Given the description of an element on the screen output the (x, y) to click on. 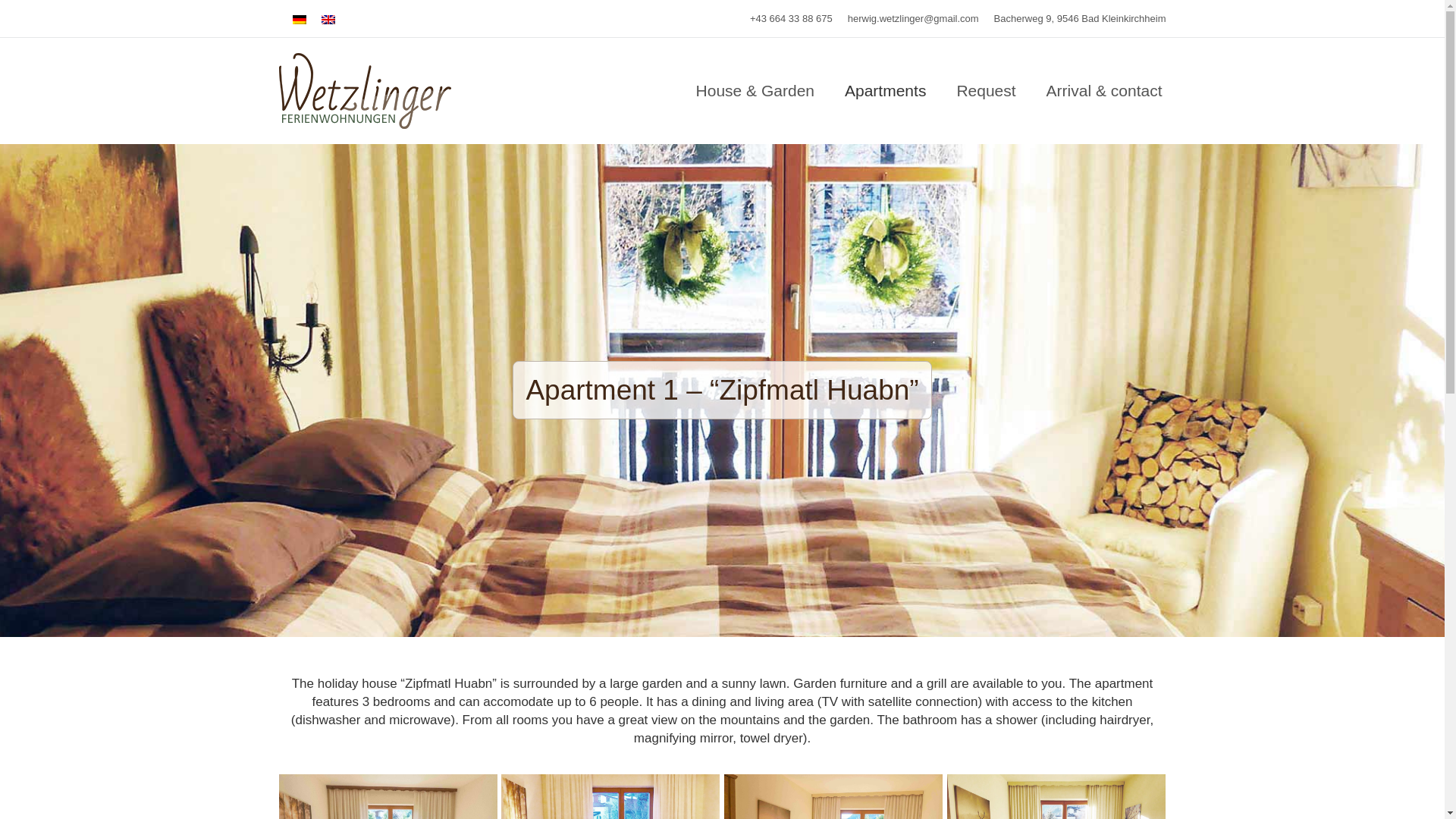
Apartments (885, 90)
Zimmer 2 (1056, 796)
Zimmer 2 (832, 796)
Zimmer 1 (609, 796)
Request (985, 90)
Deutsch (298, 19)
Zimmer 1 (388, 796)
Bacherweg 9, 9546 Bad Kleinkirchheim (1080, 18)
English (327, 19)
